Given the description of an element on the screen output the (x, y) to click on. 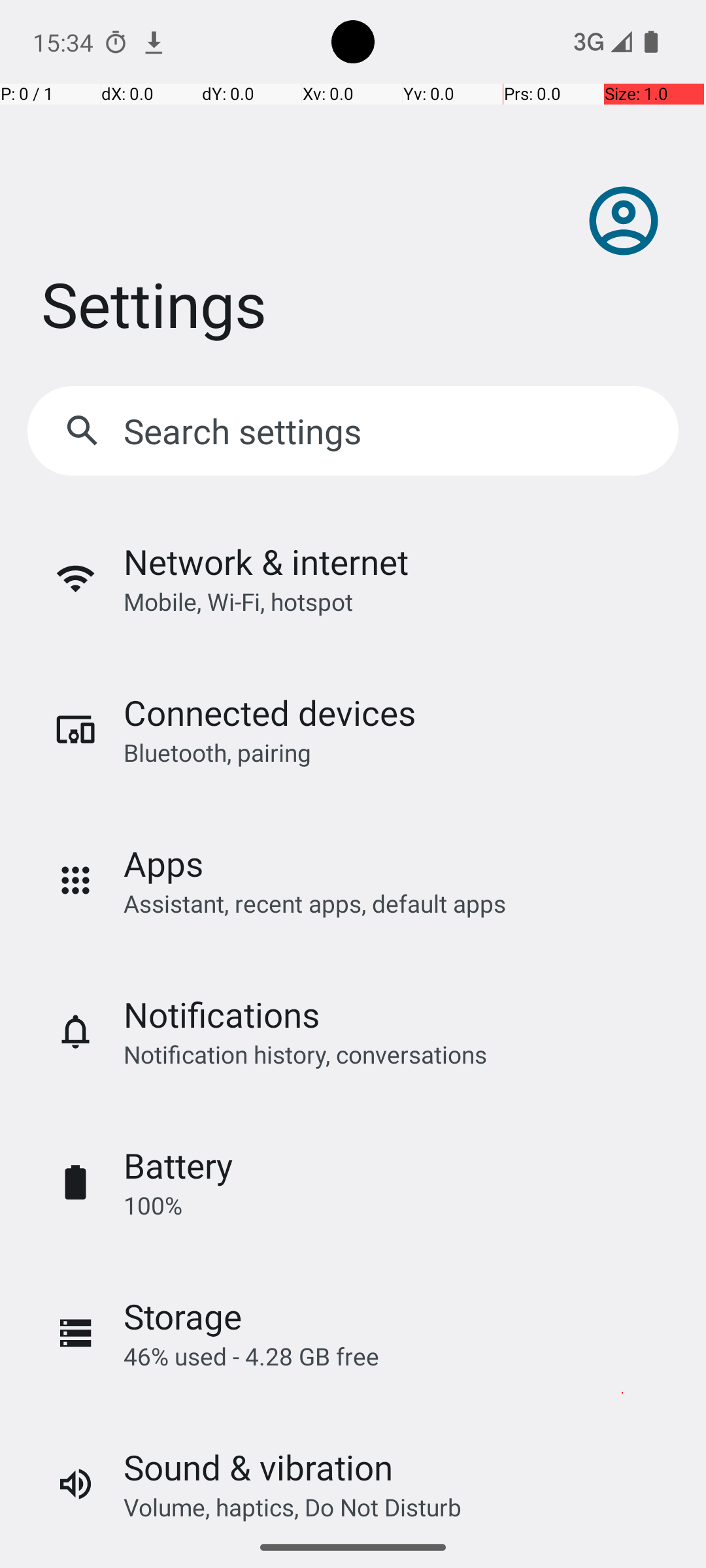
46% used - 4.28 GB free Element type: android.widget.TextView (251, 1355)
